Given the description of an element on the screen output the (x, y) to click on. 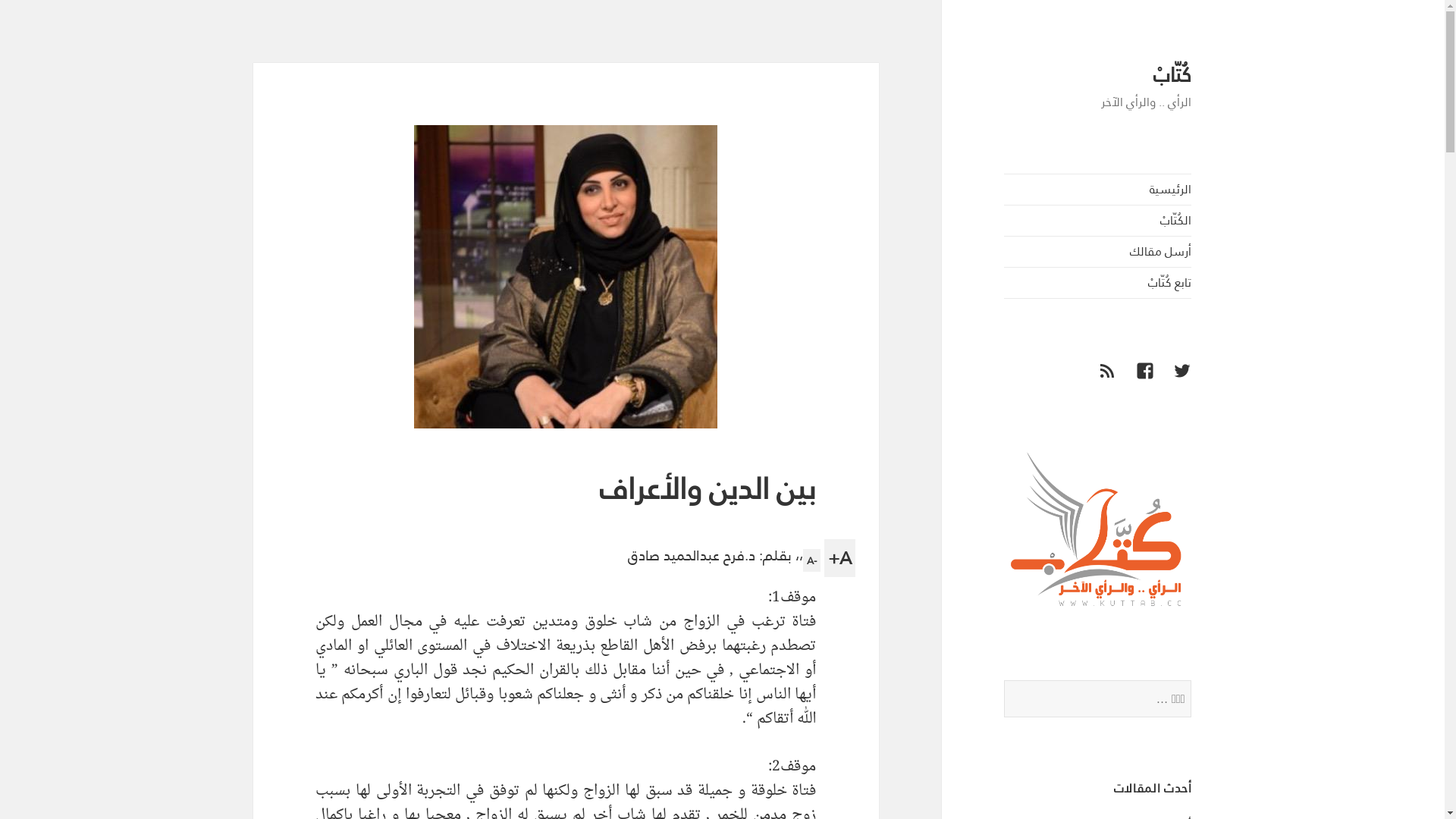
A Element type: text (811, 560)
Kuttab on Facebook Element type: text (1135, 379)
RSS Element type: text (1097, 379)
A Element type: text (839, 558)
Kuttab on Facebook Element type: text (1173, 379)
